Given the description of an element on the screen output the (x, y) to click on. 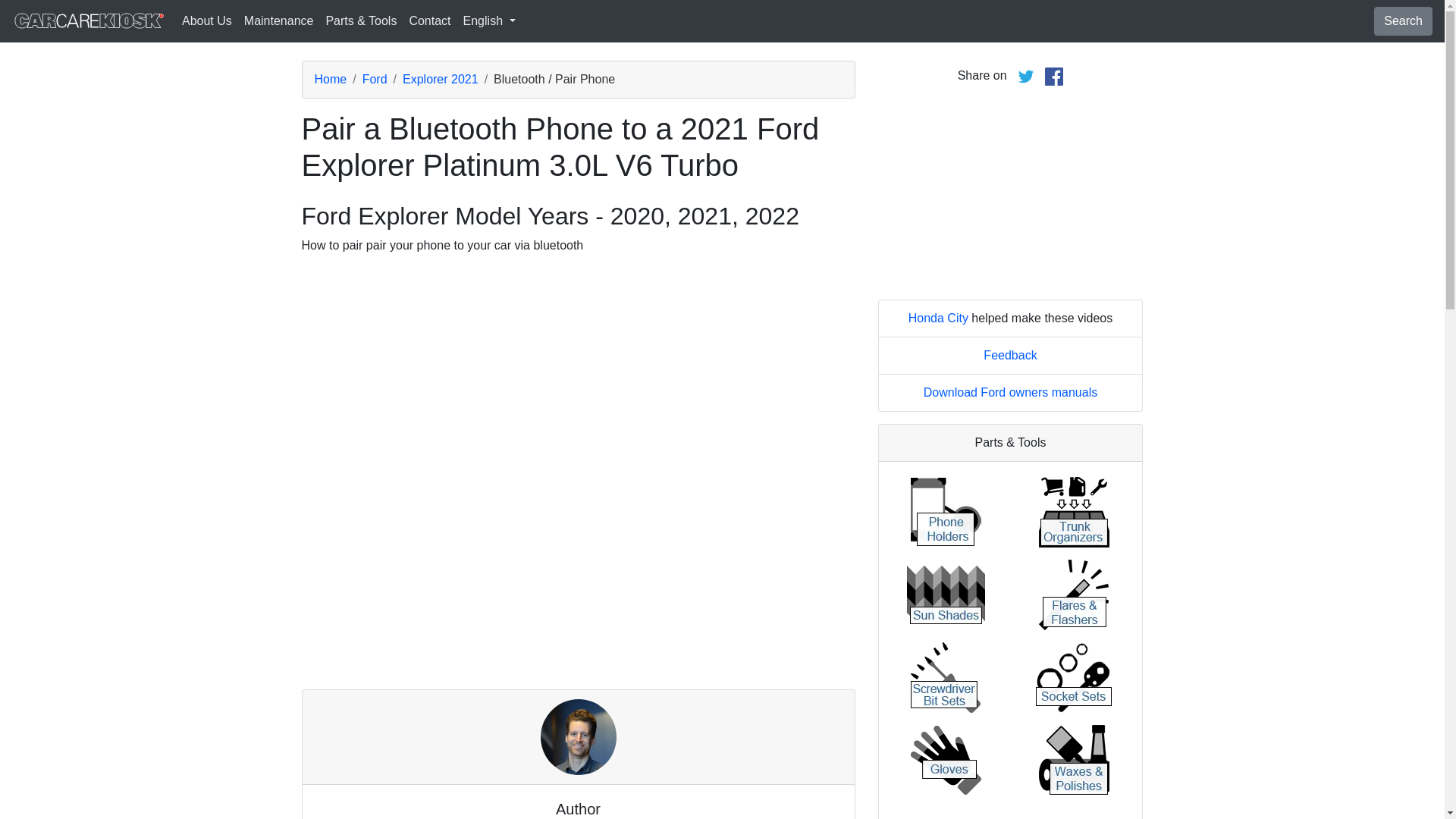
Search (1403, 21)
Feedback (1010, 354)
Honda City (938, 318)
Download Ford owners manuals (1010, 391)
About Us (207, 20)
English (489, 20)
Home (330, 79)
Maintenance (279, 20)
Ford (374, 79)
Explorer 2021 (441, 79)
Contact (430, 20)
3rd party ad content (1010, 192)
3rd party ad content (577, 631)
